Given the description of an element on the screen output the (x, y) to click on. 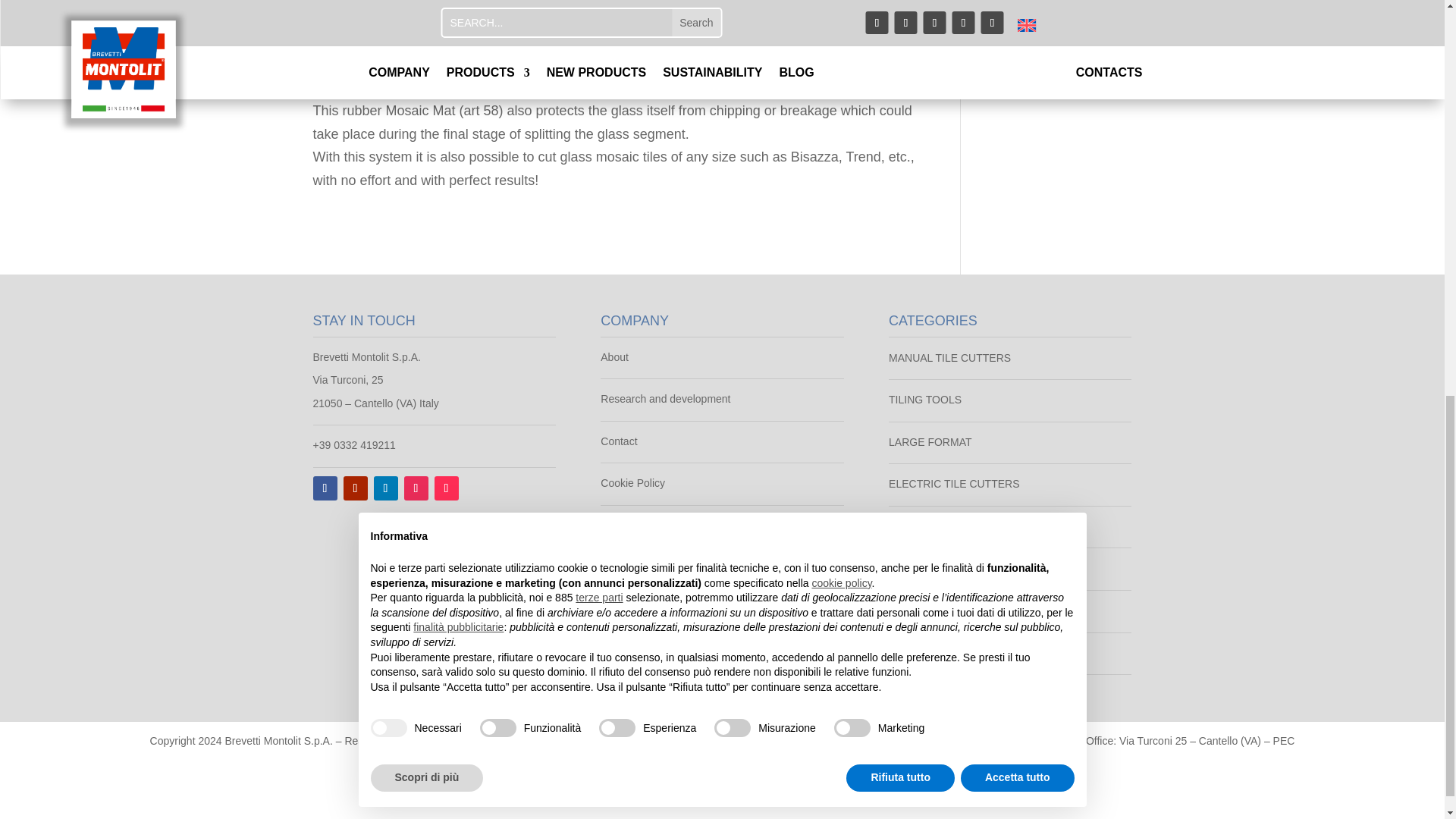
Follow on LinkedIn (384, 487)
Follow on Facebook (324, 487)
Follow on Youtube (354, 487)
